Given the description of an element on the screen output the (x, y) to click on. 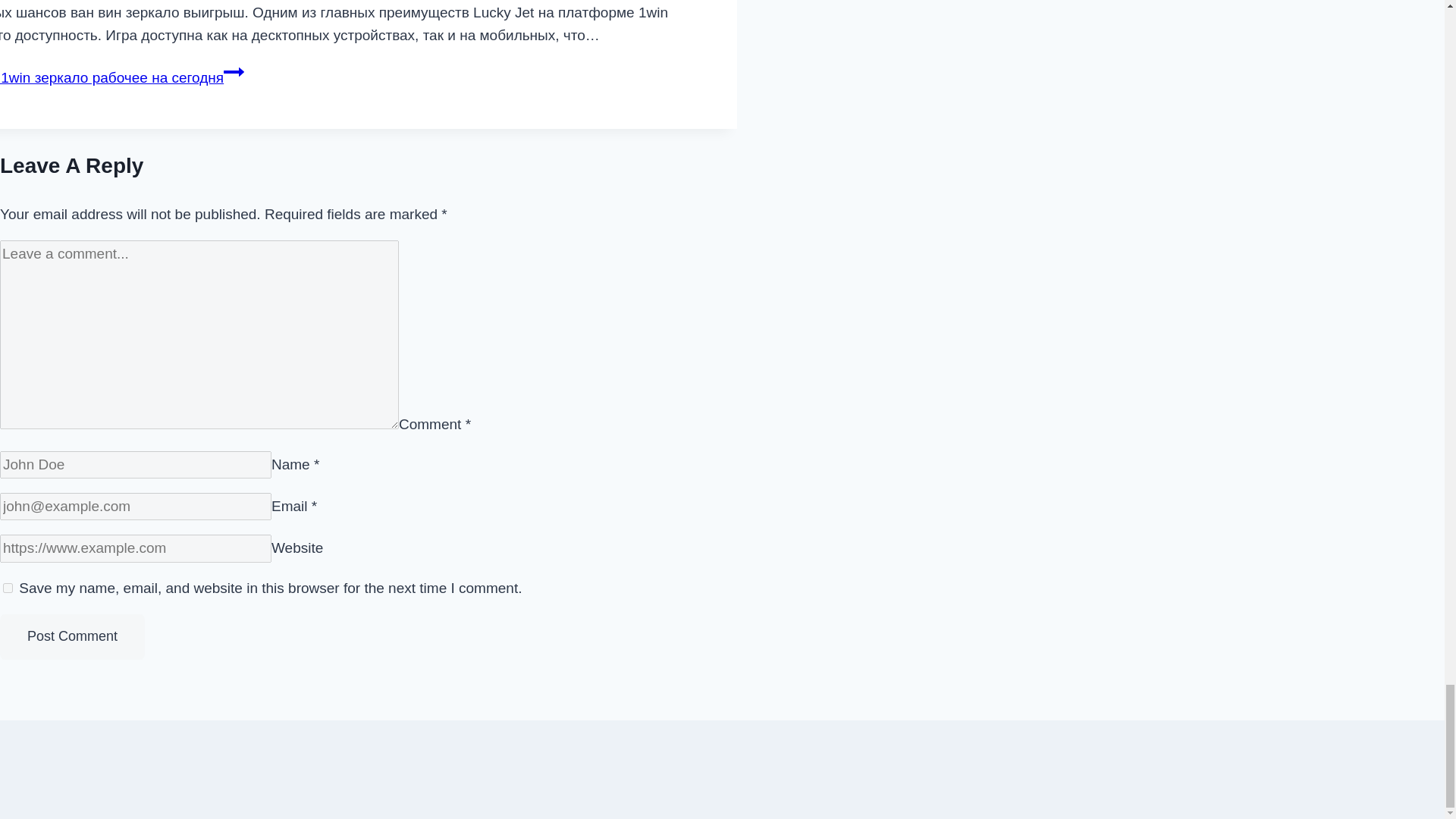
Continue (234, 71)
yes (7, 587)
Post Comment (72, 637)
Post Comment (72, 637)
